Given the description of an element on the screen output the (x, y) to click on. 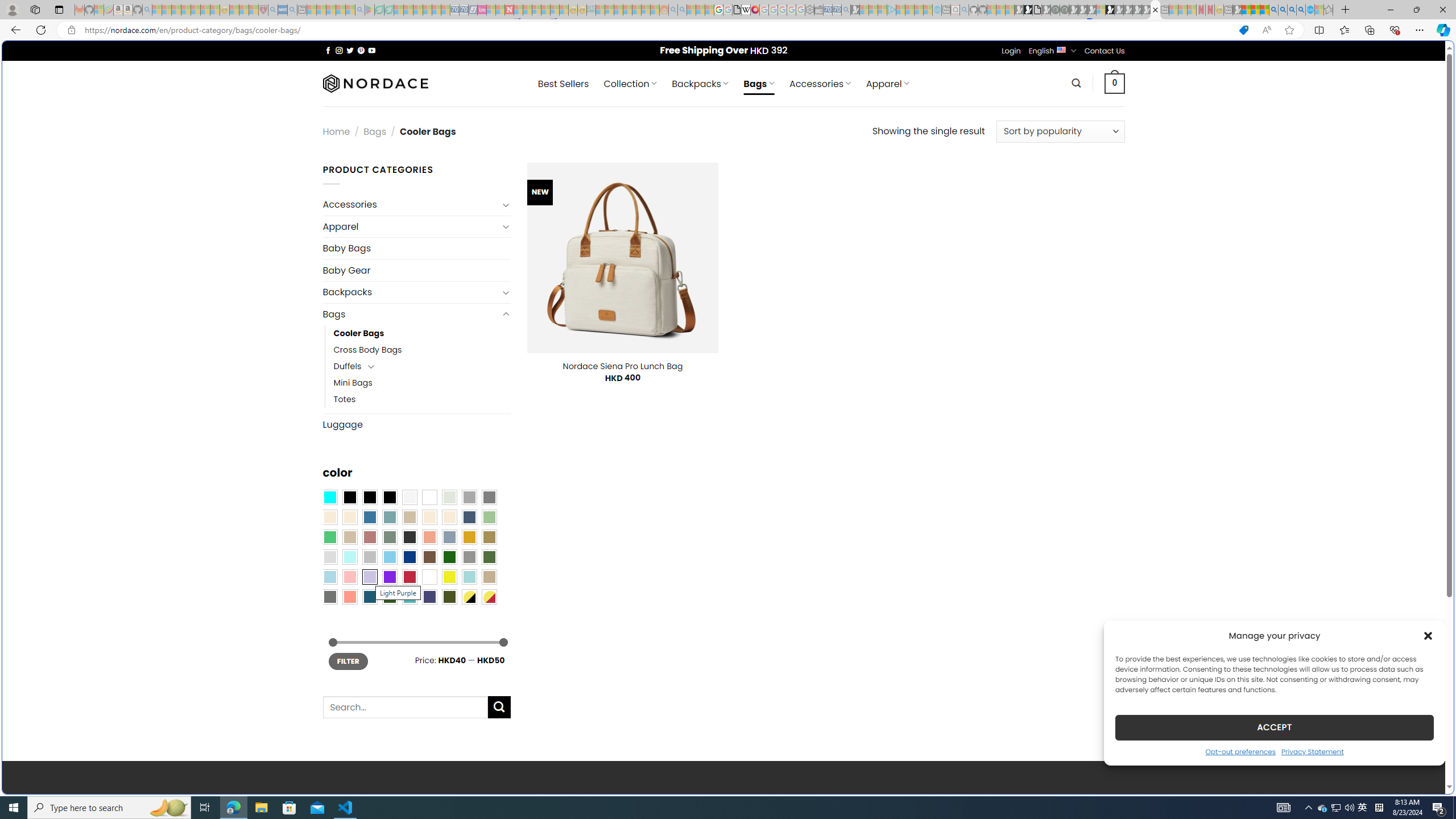
Bluey: Let's Play! - Apps on Google Play - Sleeping (369, 9)
Login (1010, 50)
Expert Portfolios - Sleeping (627, 9)
Cross Body Bags (422, 349)
This site has coupons! Shopping in Microsoft Edge (1243, 29)
Light Green (488, 517)
 Best Sellers (563, 83)
Totes (344, 398)
Mini Bags (352, 382)
Baby Gear (416, 269)
MSNBC - MSN - Sleeping (600, 9)
